Given the description of an element on the screen output the (x, y) to click on. 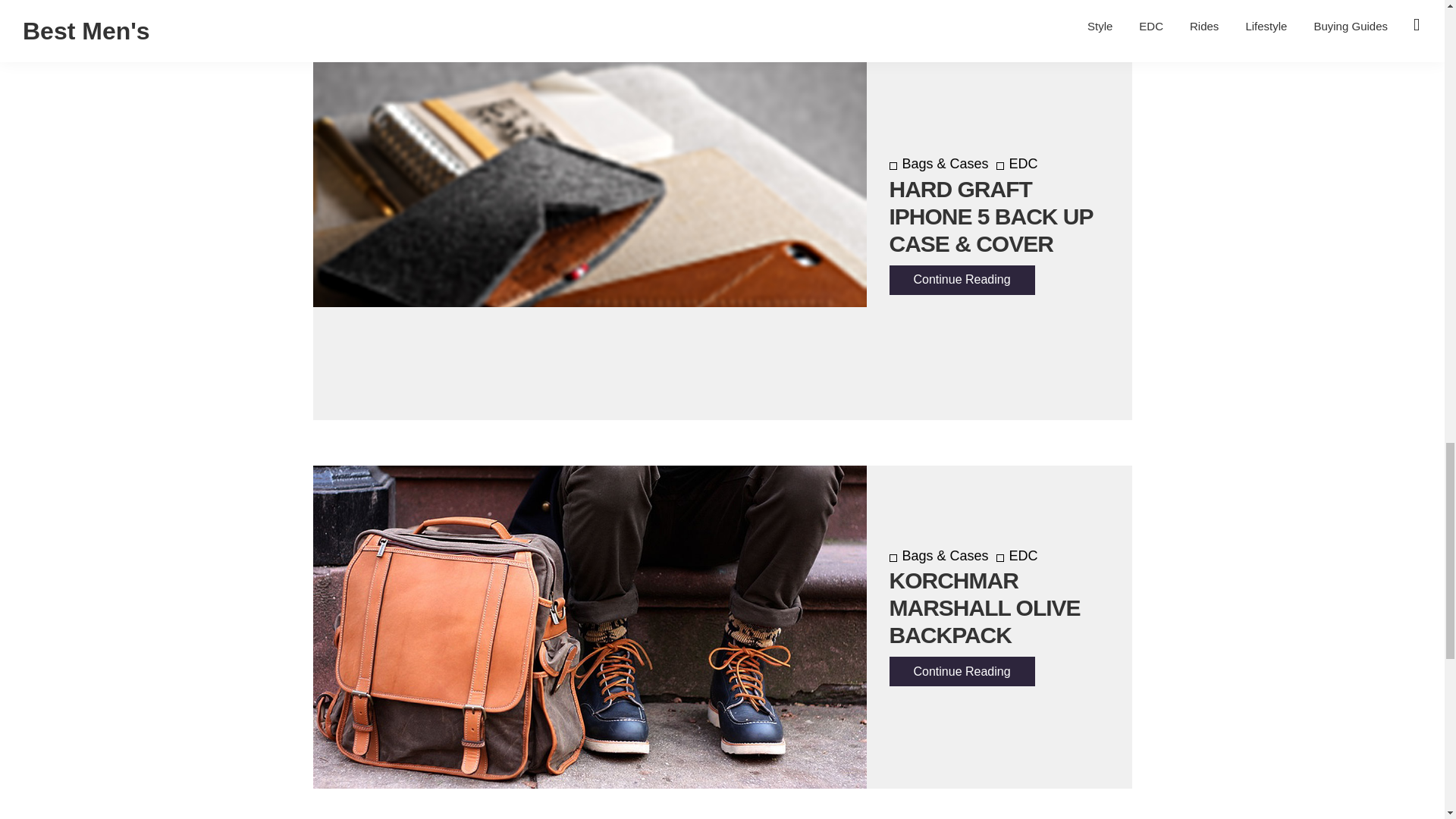
Continue Reading (960, 279)
KORCHMAR MARSHALL OLIVE BACKPACK (984, 607)
EDC (1016, 555)
EDC (1016, 163)
Continue Reading (960, 671)
